Given the description of an element on the screen output the (x, y) to click on. 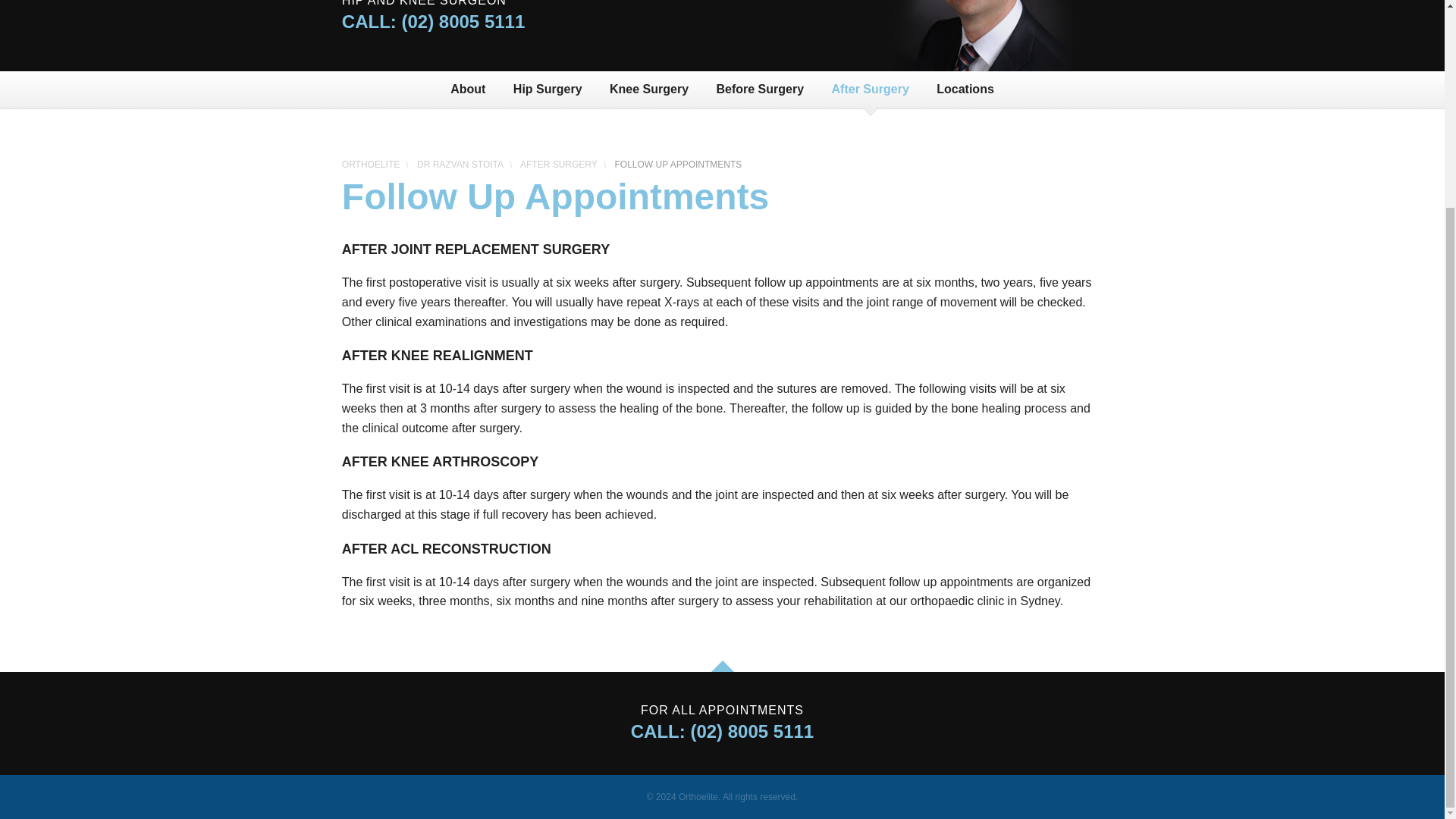
AFTER SURGERY (557, 163)
ORTHOELITE (370, 163)
DR RAZVAN STOITA (459, 163)
Go to Dr Razvan Stoita. (459, 163)
Before Surgery (759, 89)
Go to After Surgery. (557, 163)
Locations (965, 89)
Hip Surgery (547, 89)
Go to Orthoelite. (370, 163)
After Surgery (870, 89)
